Given the description of an element on the screen output the (x, y) to click on. 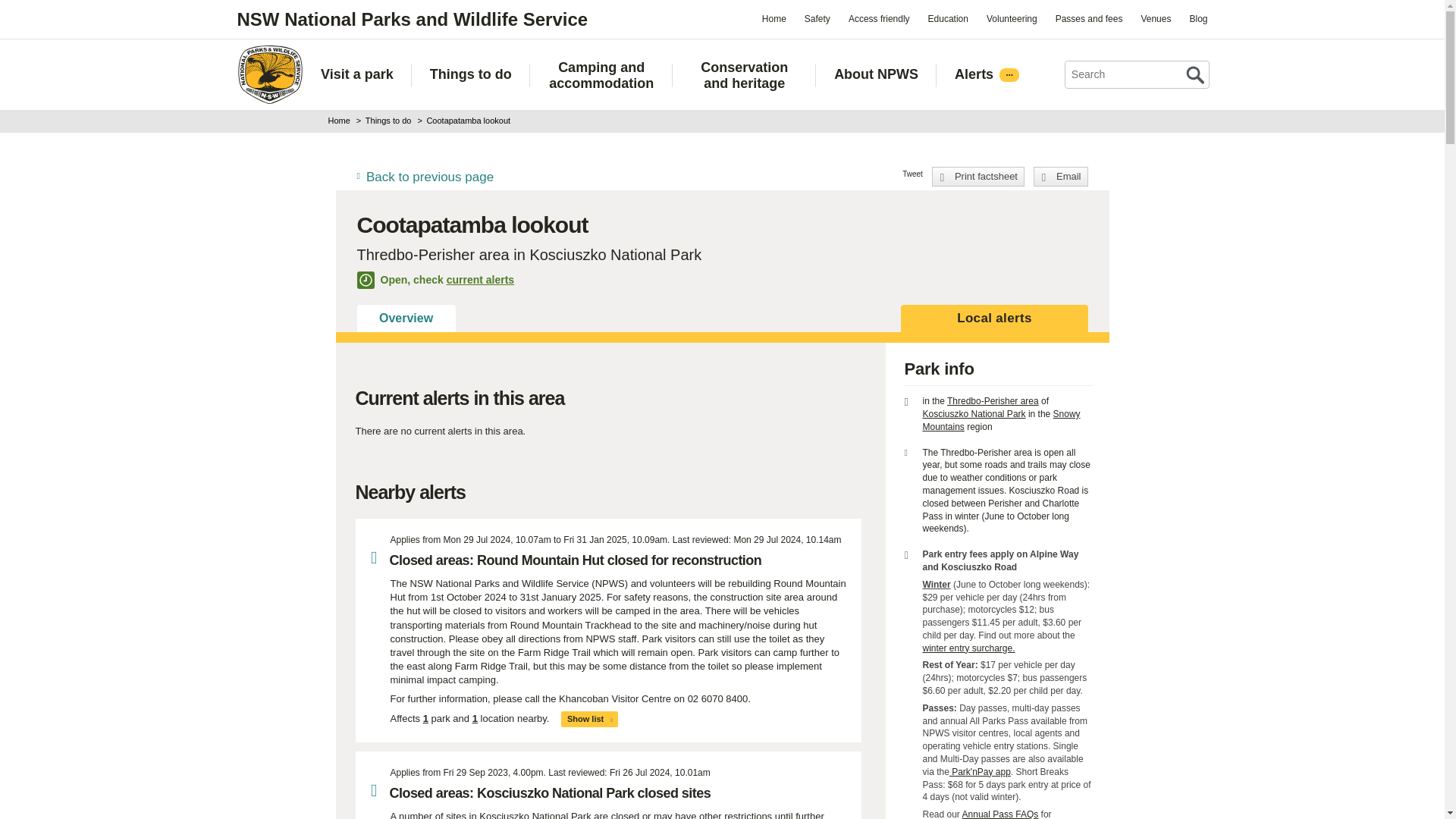
Home (268, 74)
Visit a park (356, 74)
Blog (1197, 18)
Things to do (470, 74)
About NPWS (876, 74)
Camping and accommodation (601, 75)
Conservation and heritage (743, 75)
Venues (1155, 18)
Safety (816, 18)
Home (773, 18)
Access friendly (879, 18)
Education (947, 18)
Print-friendly version of these webpages (978, 176)
Passes and fees (1089, 18)
Volunteering (1011, 18)
